Given the description of an element on the screen output the (x, y) to click on. 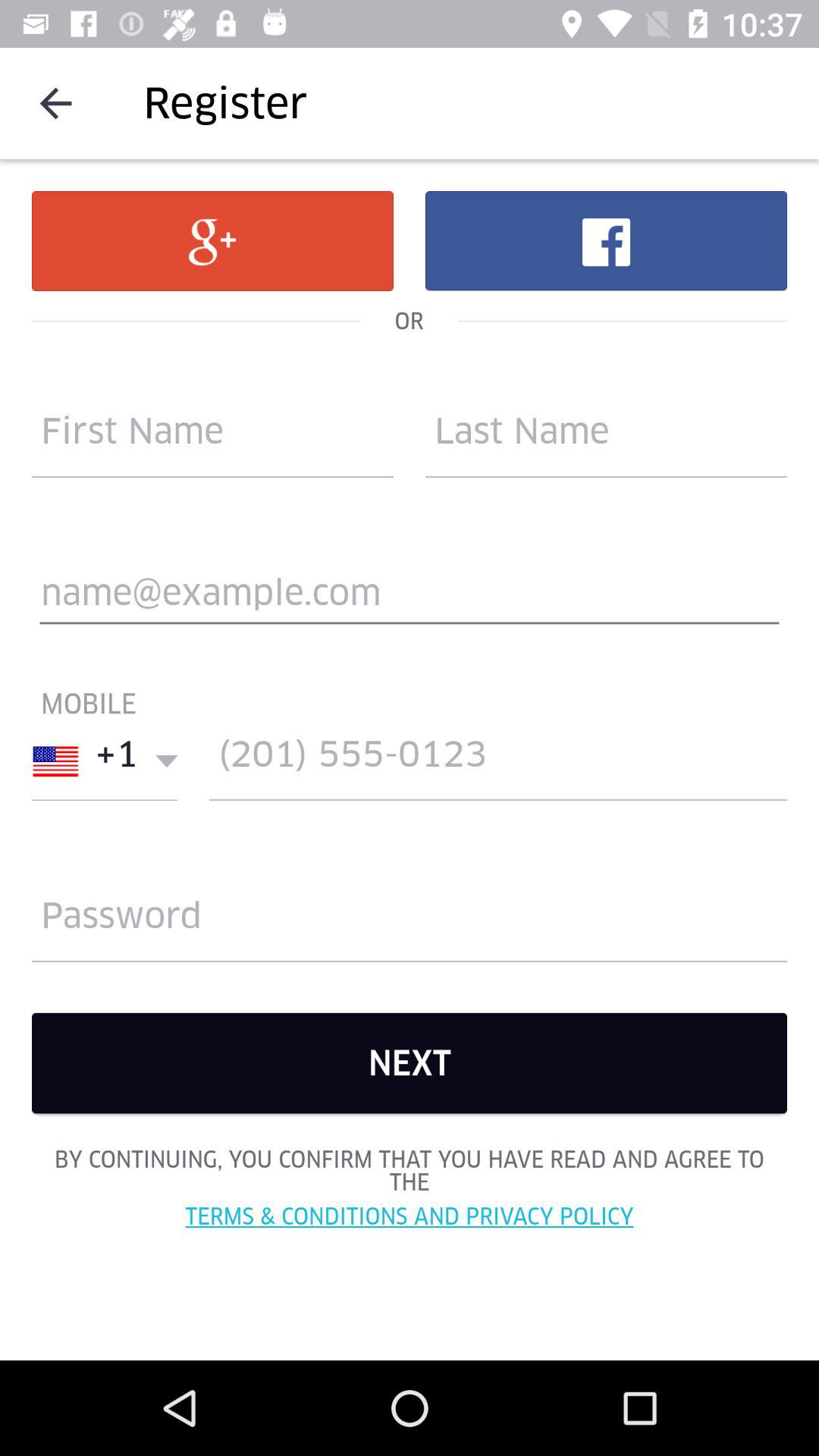
text box (409, 599)
